Given the description of an element on the screen output the (x, y) to click on. 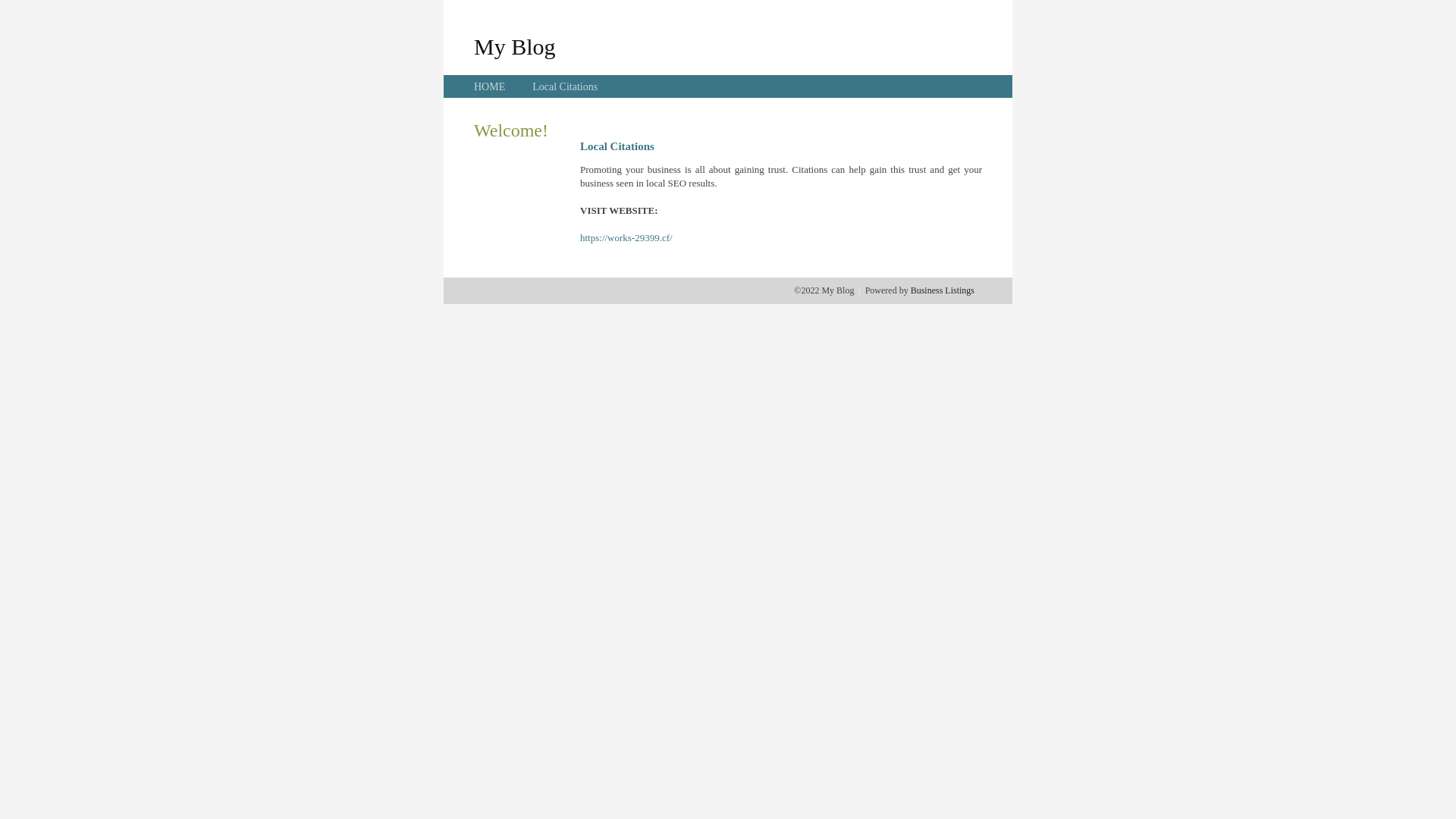
HOME Element type: text (489, 86)
Business Listings Element type: text (942, 290)
Local Citations Element type: text (564, 86)
My Blog Element type: text (514, 46)
https://works-29399.cf/ Element type: text (626, 237)
